Given the description of an element on the screen output the (x, y) to click on. 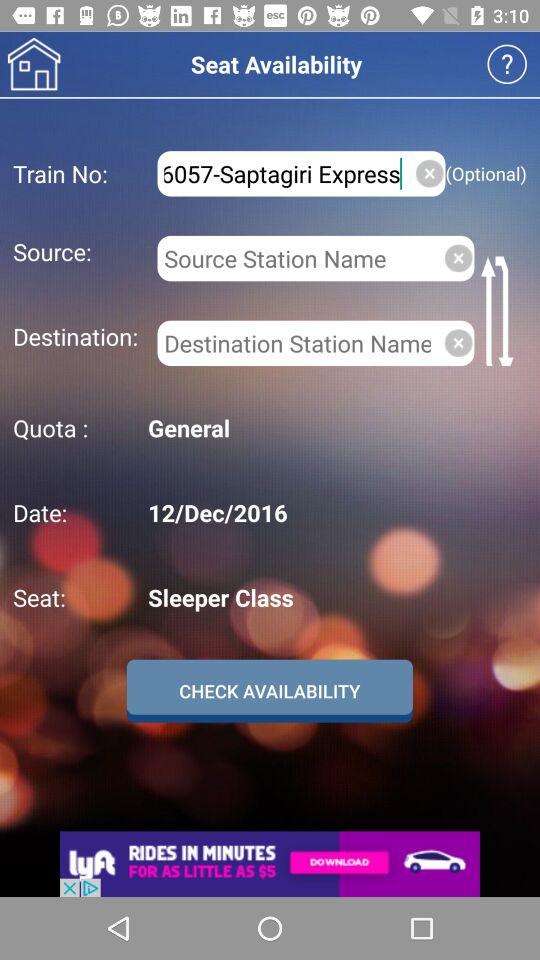
tap the icon on the right (458, 342)
